Given the description of an element on the screen output the (x, y) to click on. 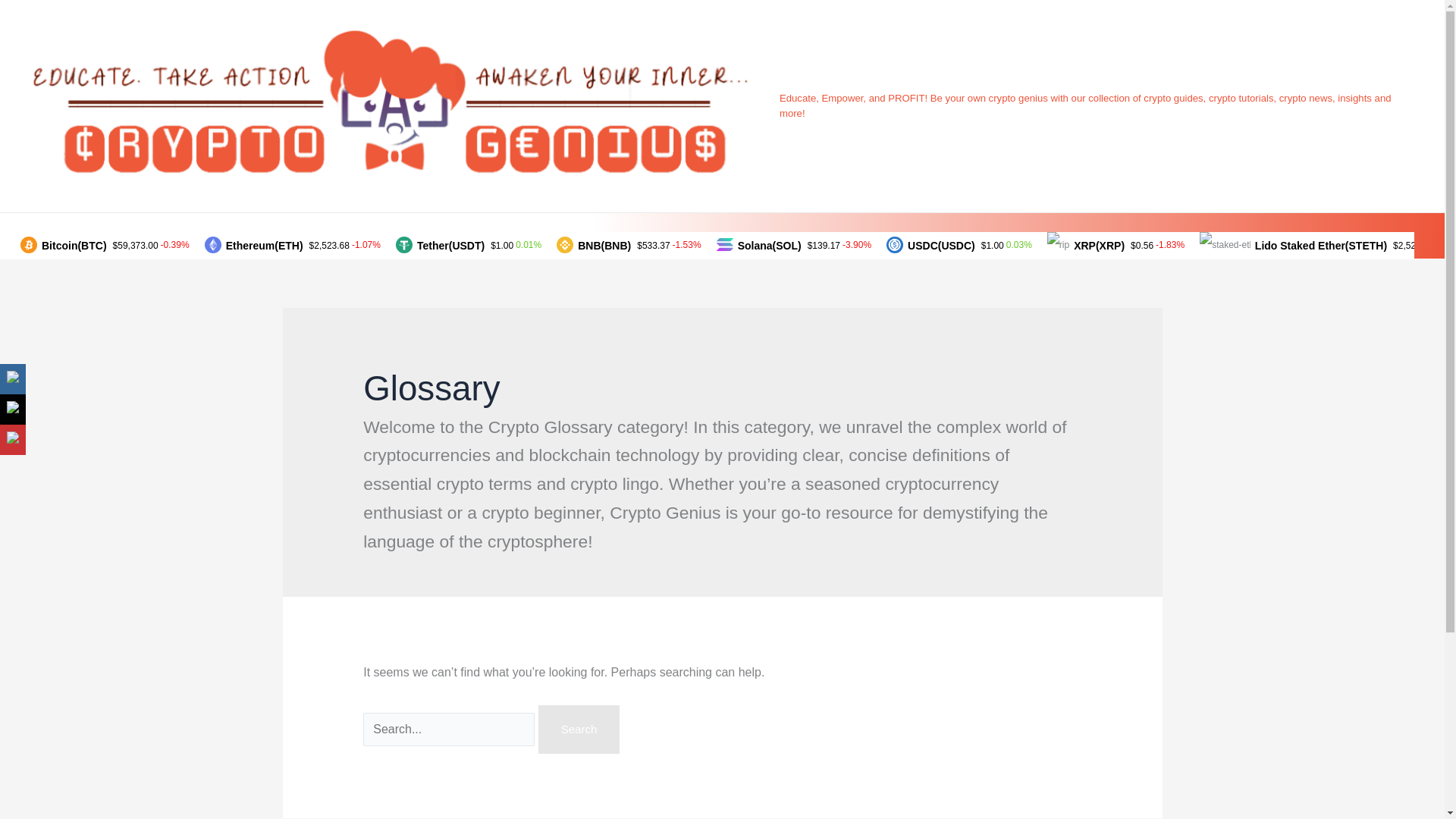
Search (579, 729)
Search (579, 729)
Search (579, 729)
